Given the description of an element on the screen output the (x, y) to click on. 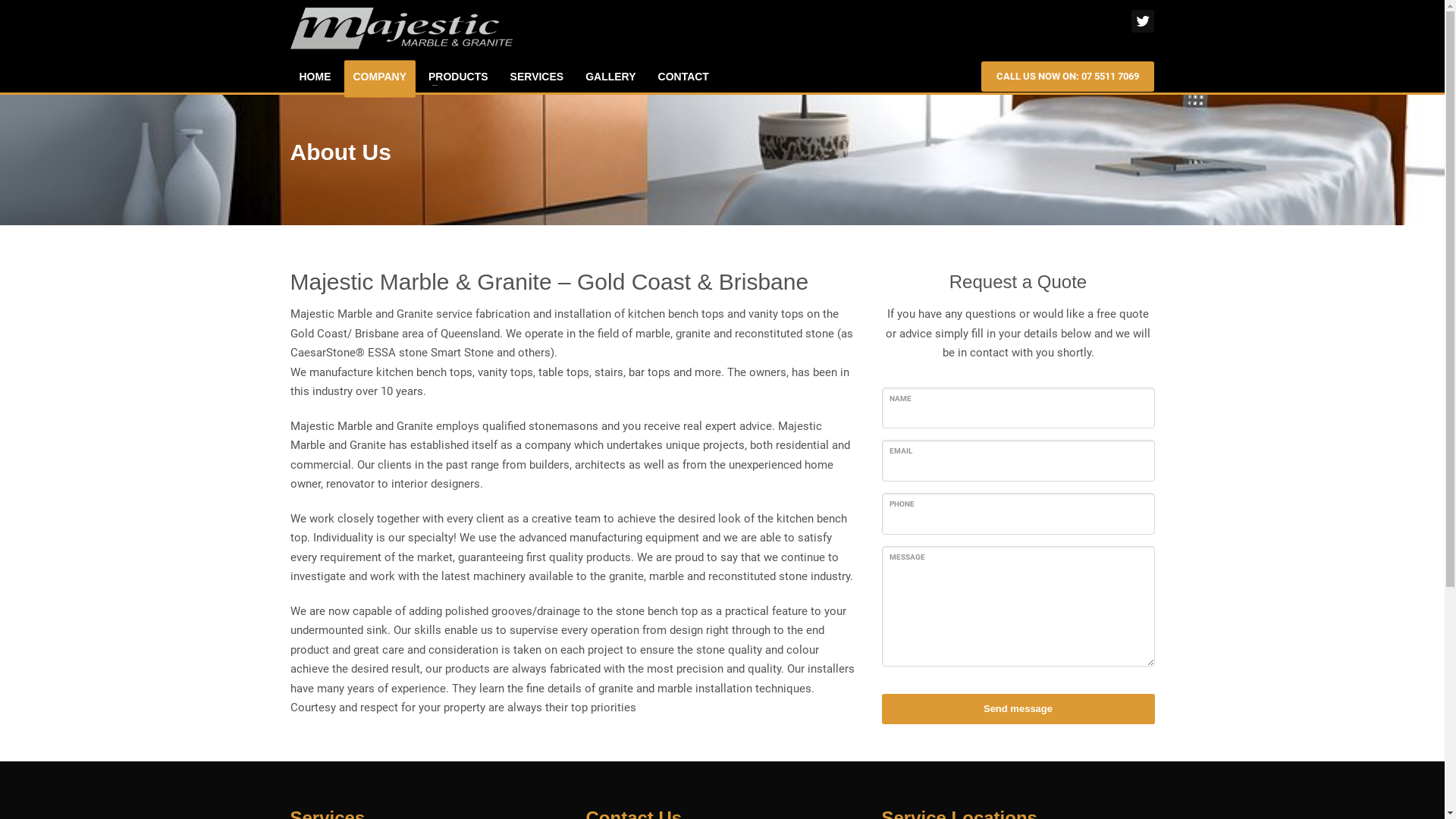
GALLERY Element type: text (610, 76)
PRODUCTS Element type: text (458, 76)
COMPANY Element type: text (380, 76)
SERVICES Element type: text (537, 76)
Send message Element type: text (1017, 708)
CONTACT Element type: text (683, 76)
HOME Element type: text (314, 76)
